Given the description of an element on the screen output the (x, y) to click on. 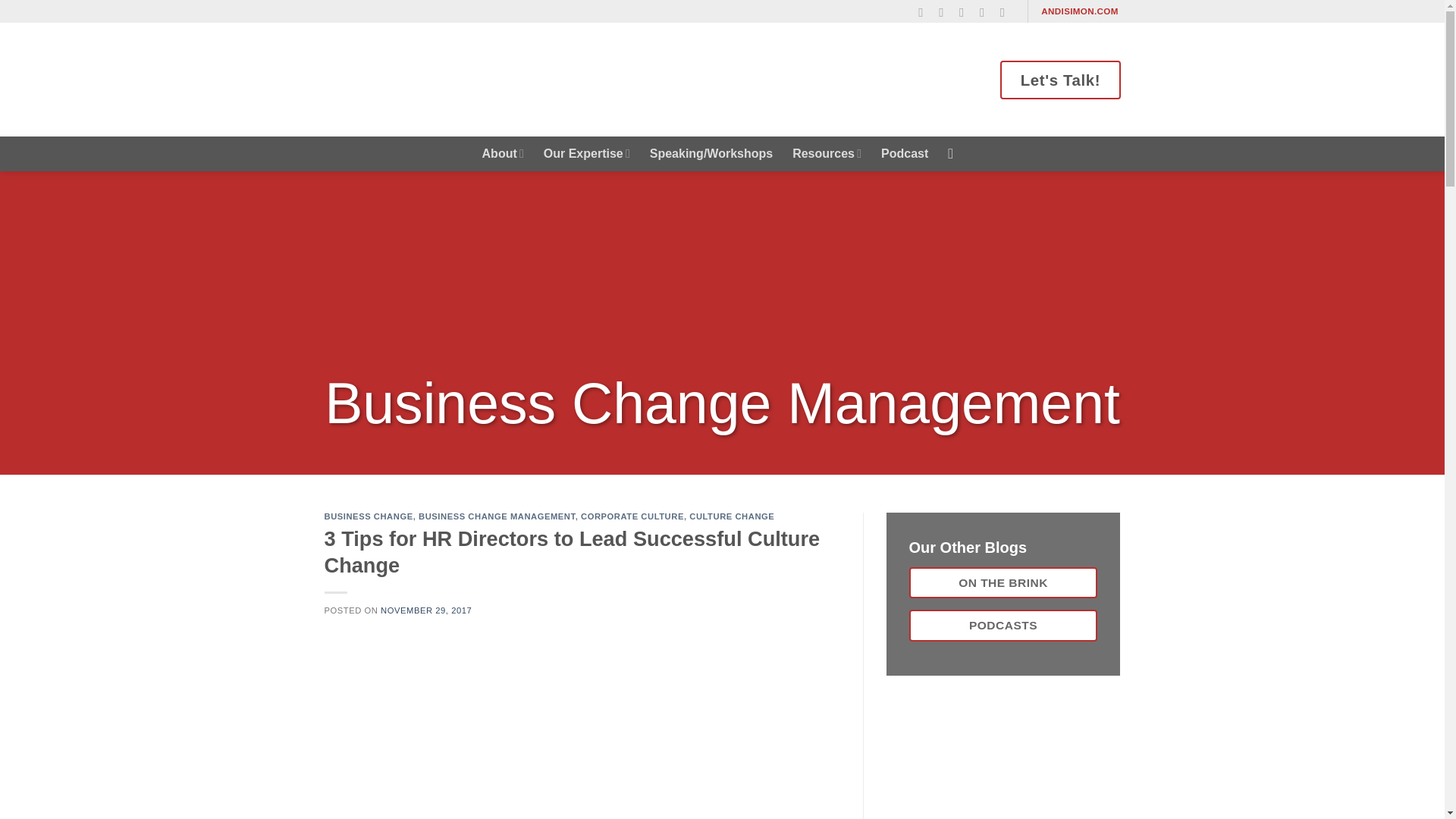
Resources (826, 153)
Podcast (904, 153)
ANDISIMON.COM (1080, 11)
Follow on YouTube (1006, 11)
Simon Associates - Management Consultants (456, 78)
About (502, 153)
Follow on Twitter (965, 11)
Let's Talk! (1059, 79)
Follow on Facebook (924, 11)
Our Expertise (586, 153)
